Given the description of an element on the screen output the (x, y) to click on. 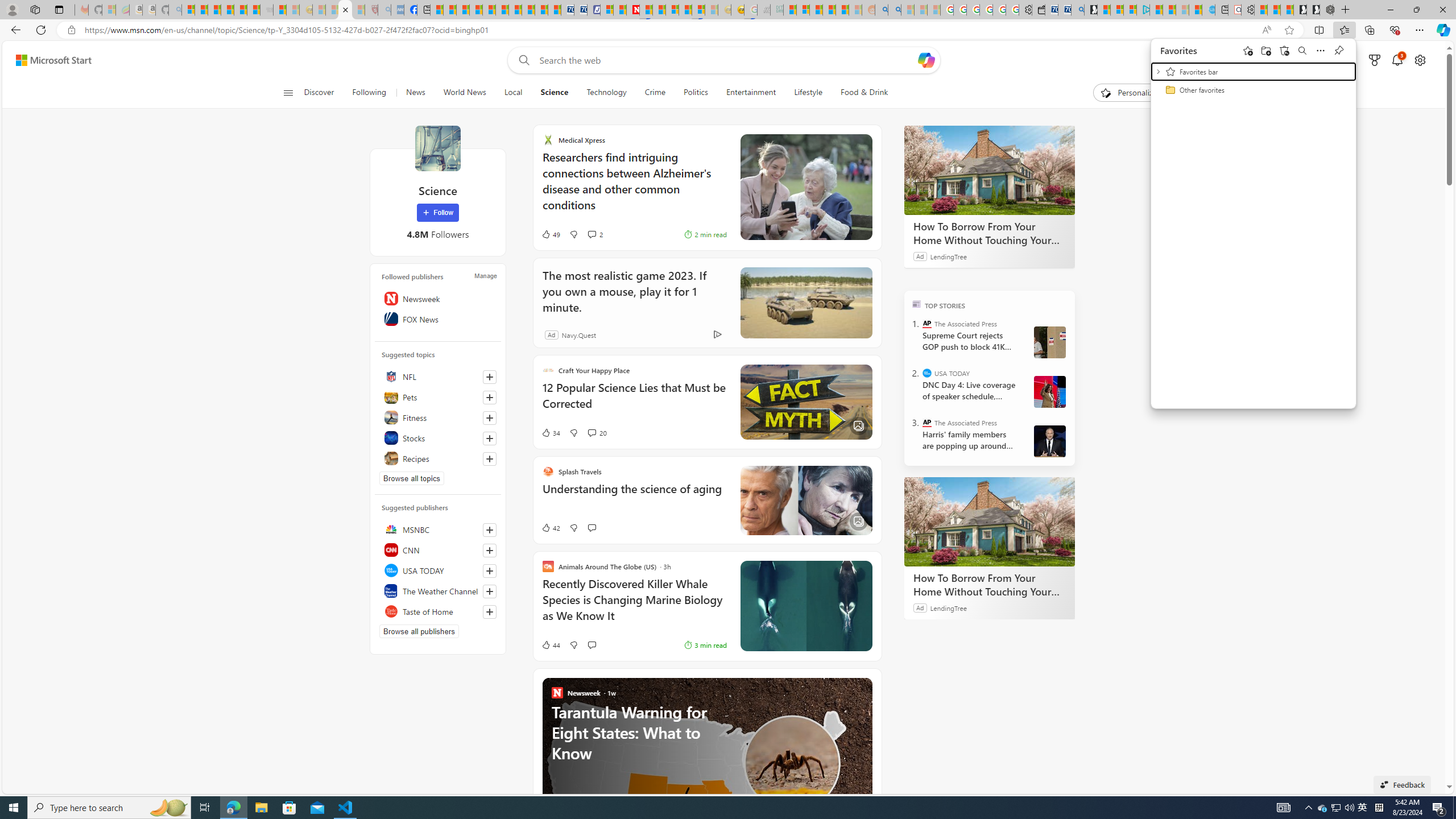
Pin favorites (1322, 807)
Q2790: 100% (1338, 49)
Climate Damage Becomes Too Severe To Reverse (1349, 807)
